Given the description of an element on the screen output the (x, y) to click on. 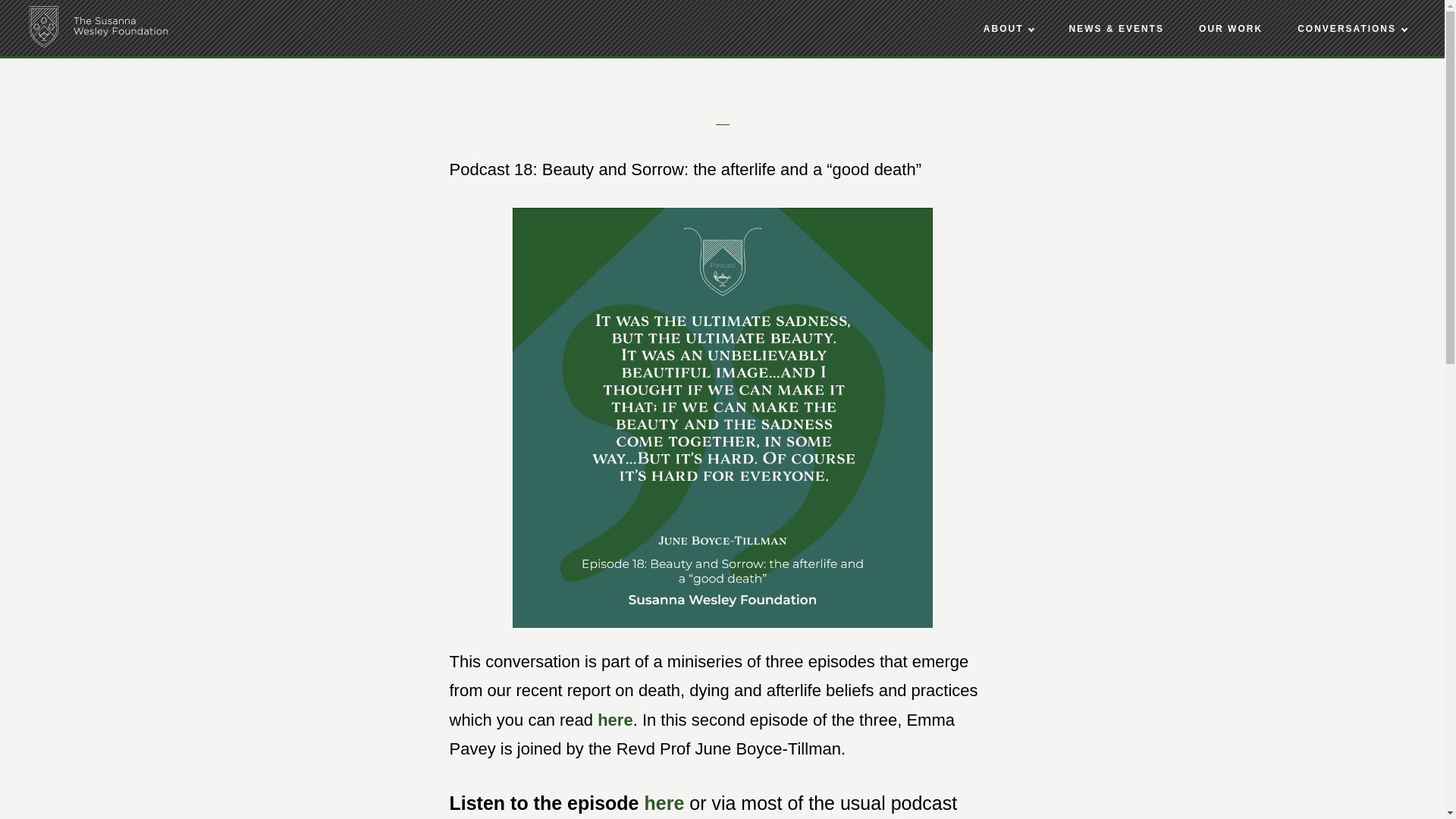
ABOUT (1008, 28)
THE SUSANNA WESLEY FOUNDATION (98, 26)
here (663, 803)
here (613, 719)
CONVERSATIONS (1352, 28)
OUR WORK (1230, 28)
